Given the description of an element on the screen output the (x, y) to click on. 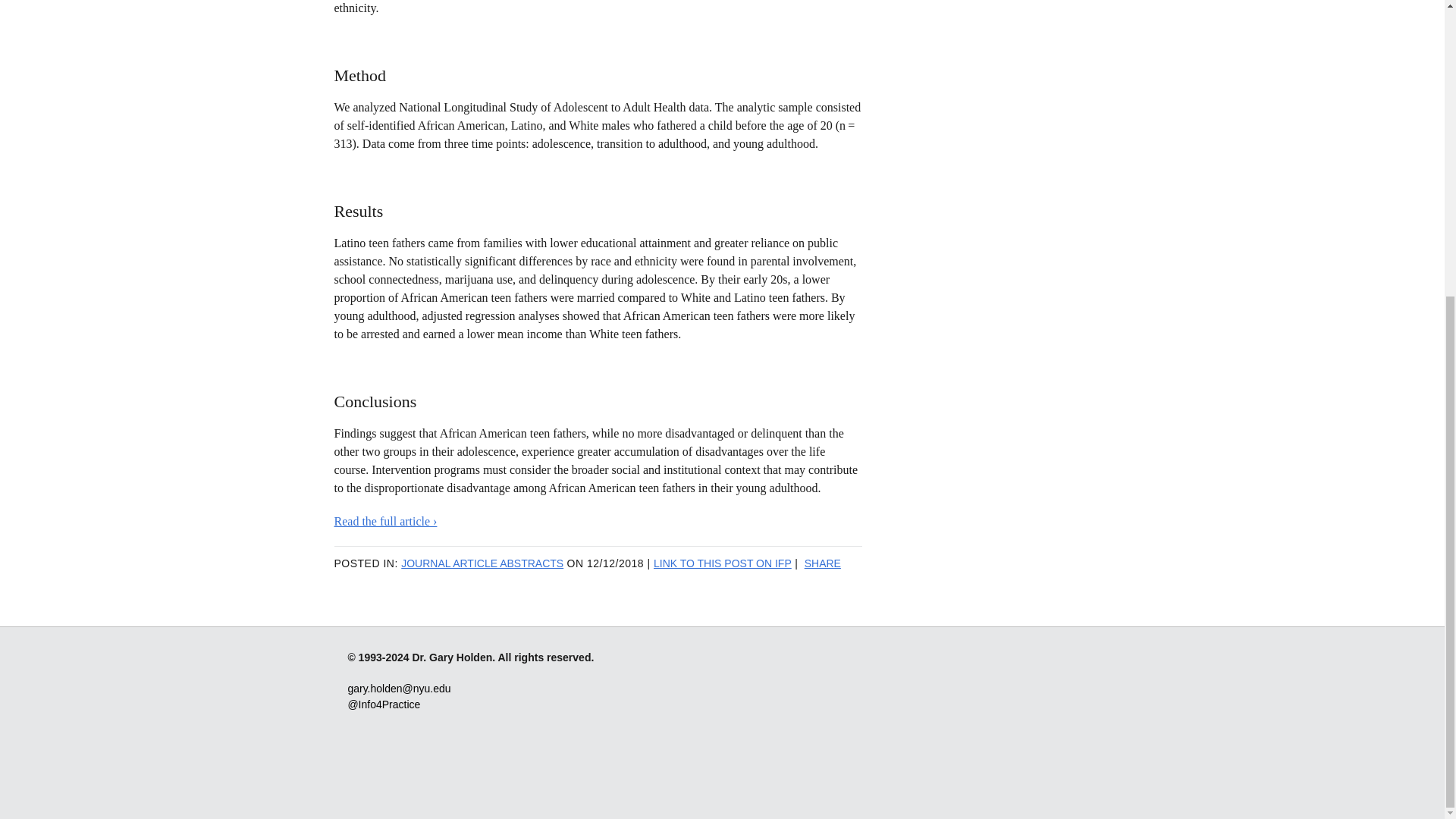
SHARE (823, 563)
JOURNAL ARTICLE ABSTRACTS (482, 563)
LINK TO THIS POST ON IFP (722, 563)
